Given the description of an element on the screen output the (x, y) to click on. 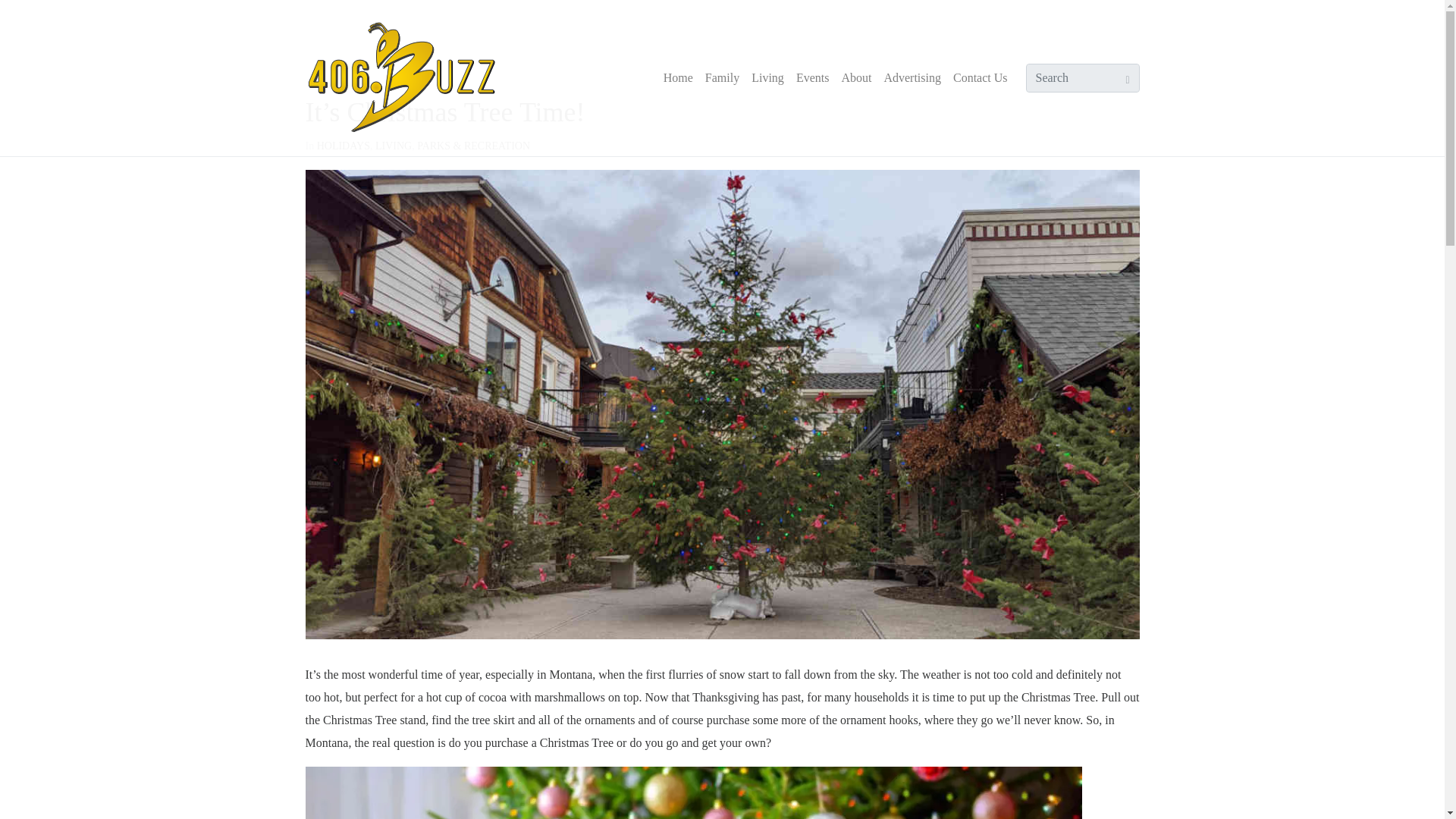
Living (767, 77)
Home (678, 77)
LIVING (393, 145)
About (855, 77)
Family (721, 77)
Advertising (912, 77)
Events (812, 77)
HOLIDAYS (343, 145)
Contact Us (980, 77)
